Given the description of an element on the screen output the (x, y) to click on. 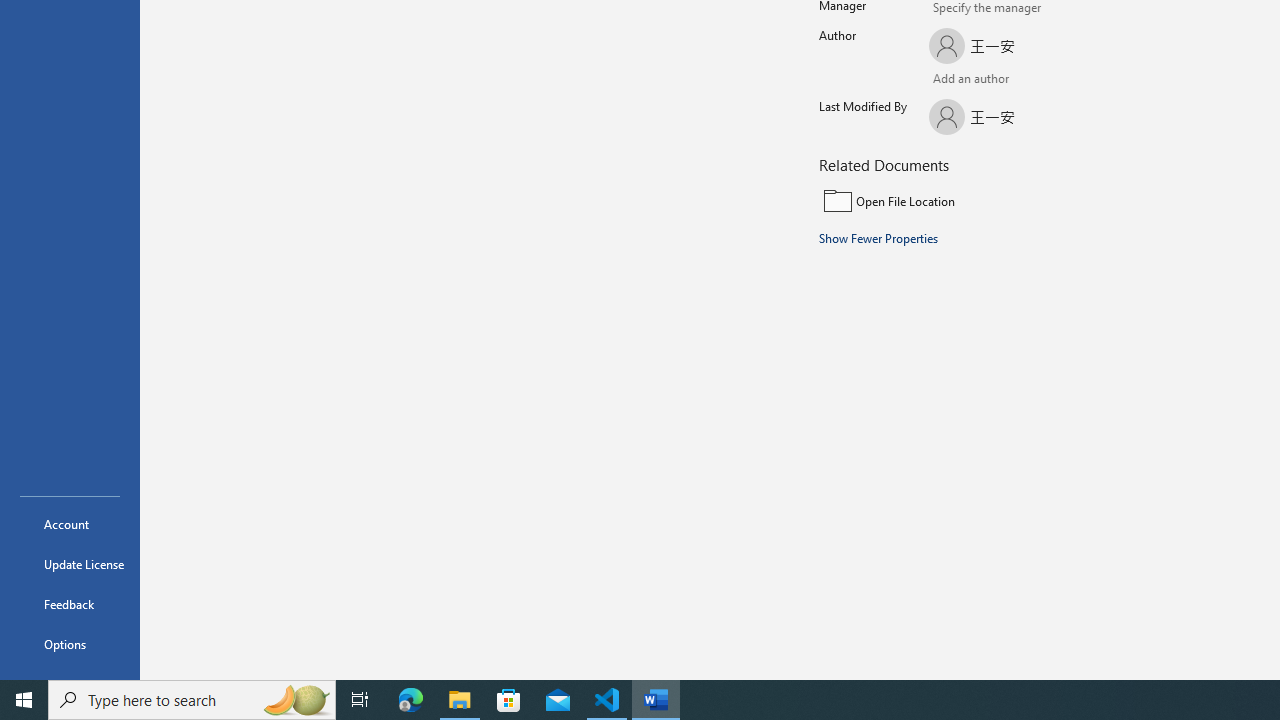
Add an author (949, 80)
Account (69, 523)
Options (69, 643)
Feedback (69, 603)
Browse Address Book (1047, 80)
Open File Location (953, 201)
Verify Names (983, 80)
Show Fewer Properties (879, 237)
Update License (69, 563)
